Given the description of an element on the screen output the (x, y) to click on. 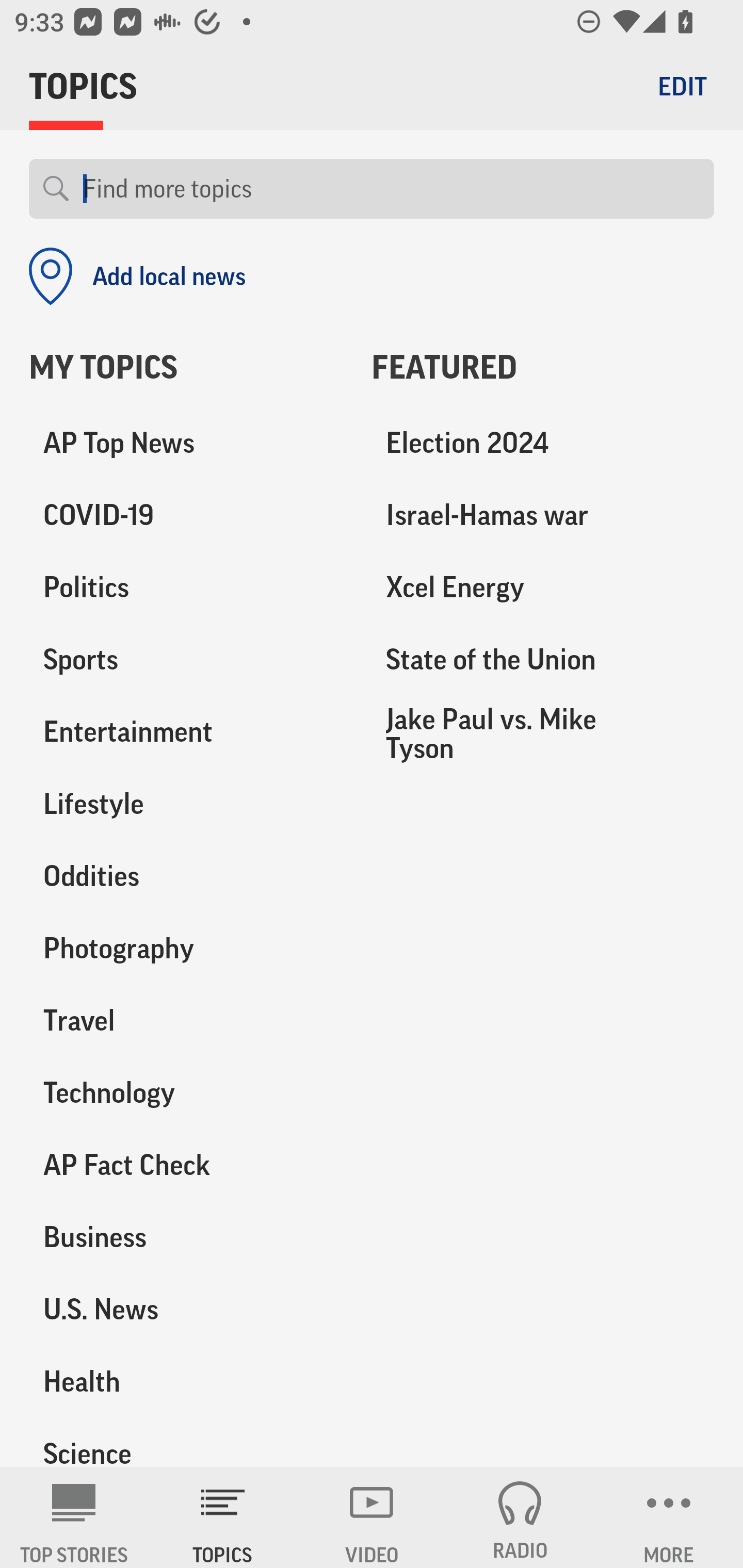
EDIT (682, 86)
Find more topics (391, 188)
Add local news (137, 276)
AP Top News (185, 443)
Election 2024 (542, 443)
COVID-19 (185, 515)
Israel-Hamas war (542, 515)
Politics (185, 587)
Xcel Energy (542, 587)
Sports (185, 660)
State of the Union (542, 660)
Entertainment (185, 732)
Jake Paul vs. Mike Tyson (542, 733)
Lifestyle (185, 804)
Oddities (185, 876)
Photography (185, 948)
Travel (185, 1020)
Technology (185, 1092)
AP Fact Check (185, 1164)
Business (185, 1237)
U.S. News (185, 1309)
Health (185, 1381)
Science (185, 1442)
AP News TOP STORIES (74, 1517)
TOPICS (222, 1517)
VIDEO (371, 1517)
RADIO (519, 1517)
MORE (668, 1517)
